Given the description of an element on the screen output the (x, y) to click on. 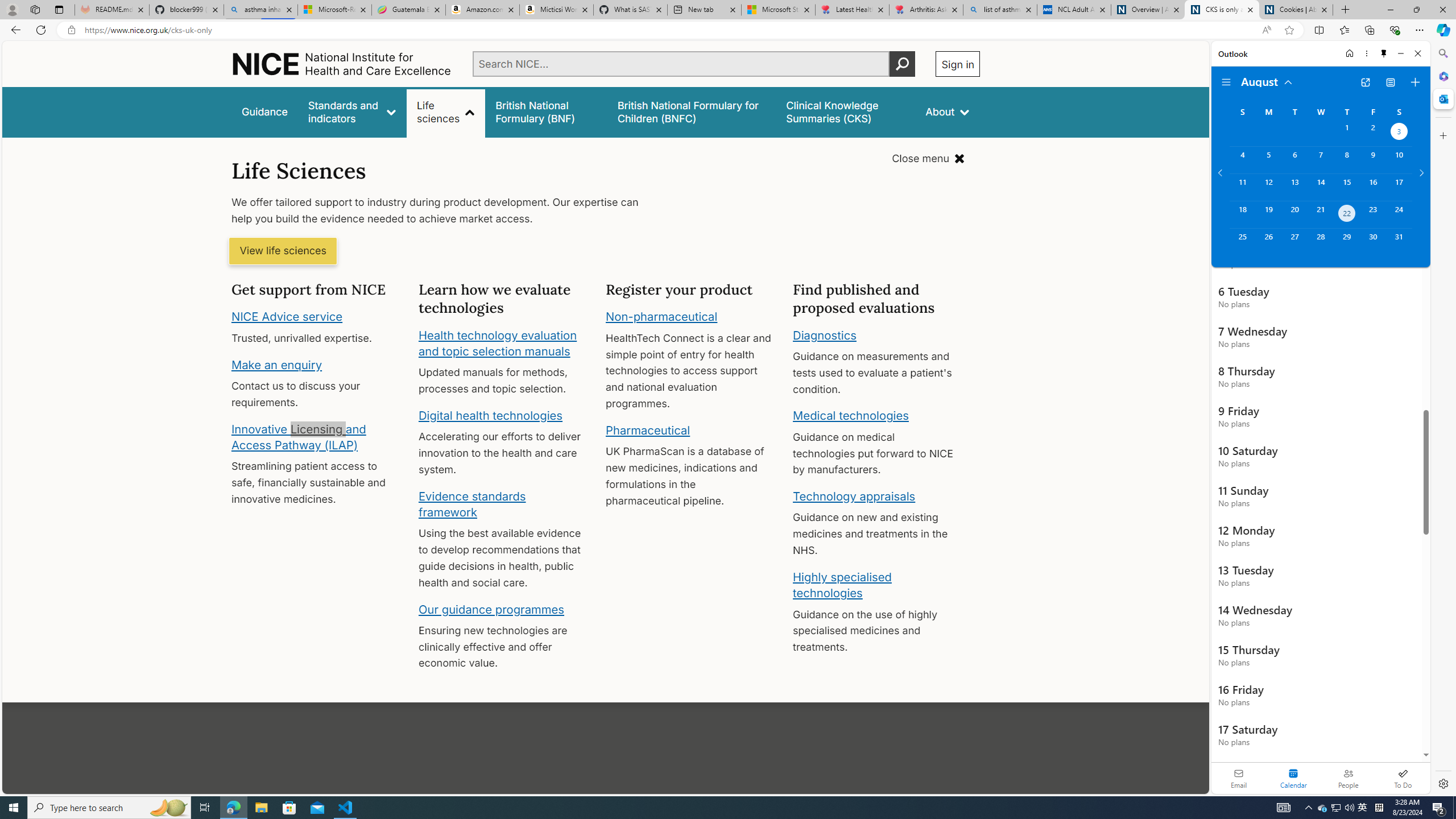
Close Customize pane (1442, 135)
Medical technologies (850, 415)
false (845, 111)
Monday, August 5, 2024.  (1268, 159)
Life sciences (446, 111)
About (947, 111)
NICE Advice service (287, 316)
